Given the description of an element on the screen output the (x, y) to click on. 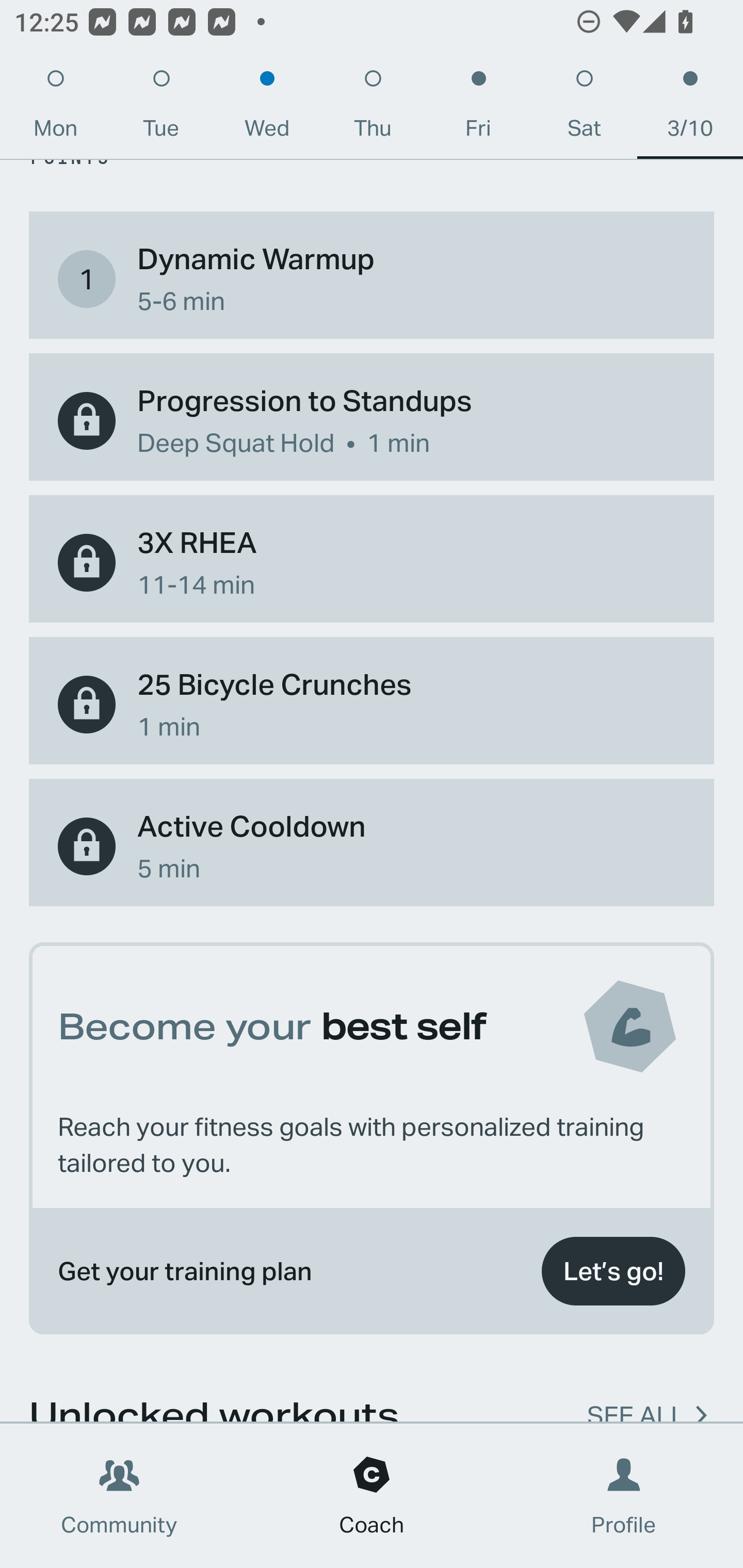
Mon (55, 108)
Tue (160, 108)
Wed (266, 108)
Thu (372, 108)
Fri (478, 108)
Sat (584, 108)
3/10 (690, 108)
1 Dynamic Warmup 5-6 min (371, 279)
Progression to Standups Deep Squat Hold  •  1 min (371, 420)
3X RHEA 11-14 min (371, 562)
25 Bicycle Crunches 1 min (371, 704)
Active Cooldown 5 min (371, 845)
Let’s go! (613, 1270)
Community (119, 1495)
Profile (624, 1495)
